Given the description of an element on the screen output the (x, y) to click on. 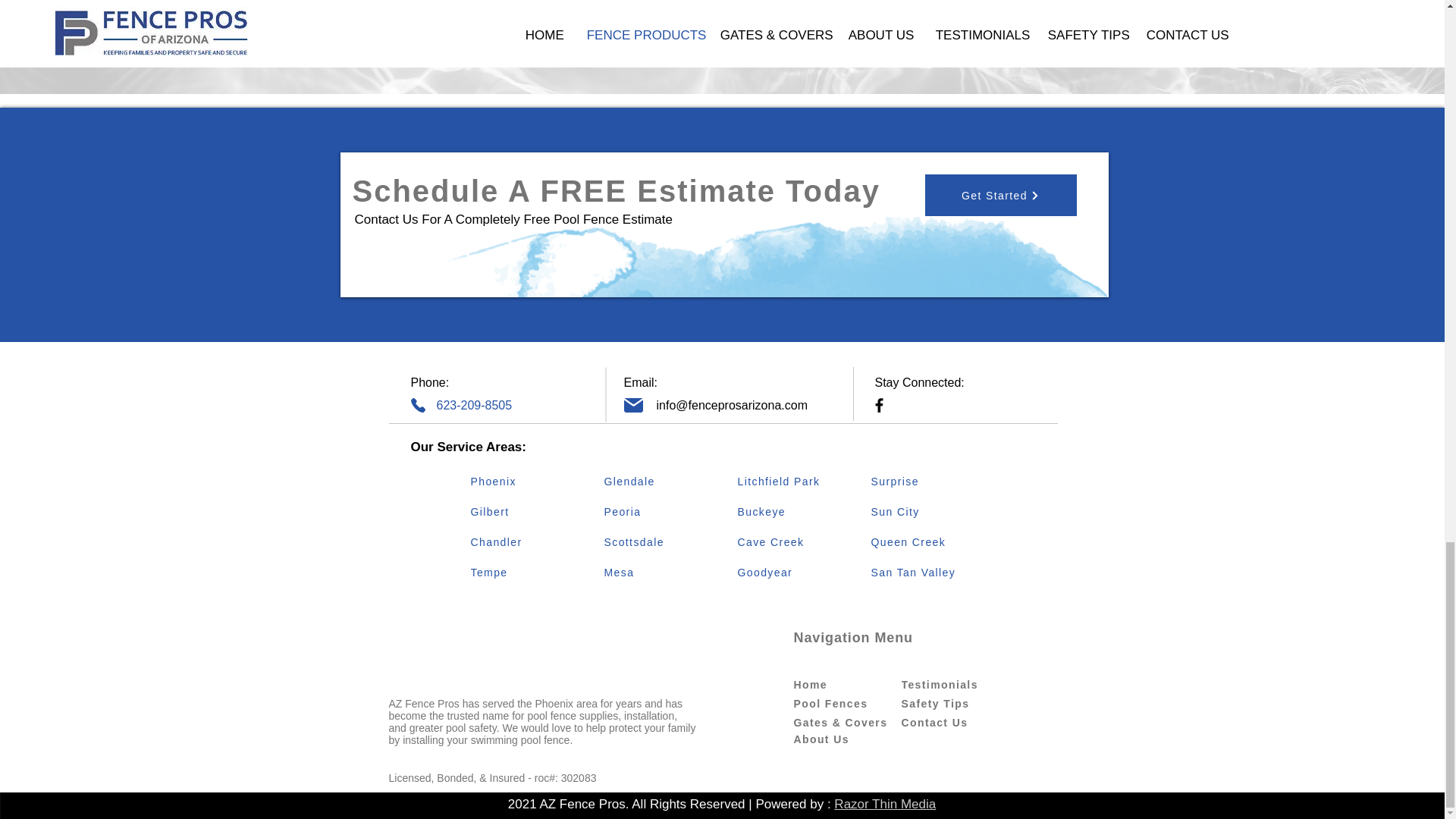
Tempe (524, 572)
Mesa (657, 572)
Cave Creek (790, 542)
Scottsdale (657, 542)
Buckeye (790, 511)
Get Started (1000, 195)
Phoenix (524, 481)
Goodyear (790, 572)
Sun City (924, 511)
Glendale (657, 481)
Litchfield Park (790, 481)
Gilbert (524, 511)
Peoria (657, 511)
Chandler (524, 542)
623-209-8505 (474, 404)
